Given the description of an element on the screen output the (x, y) to click on. 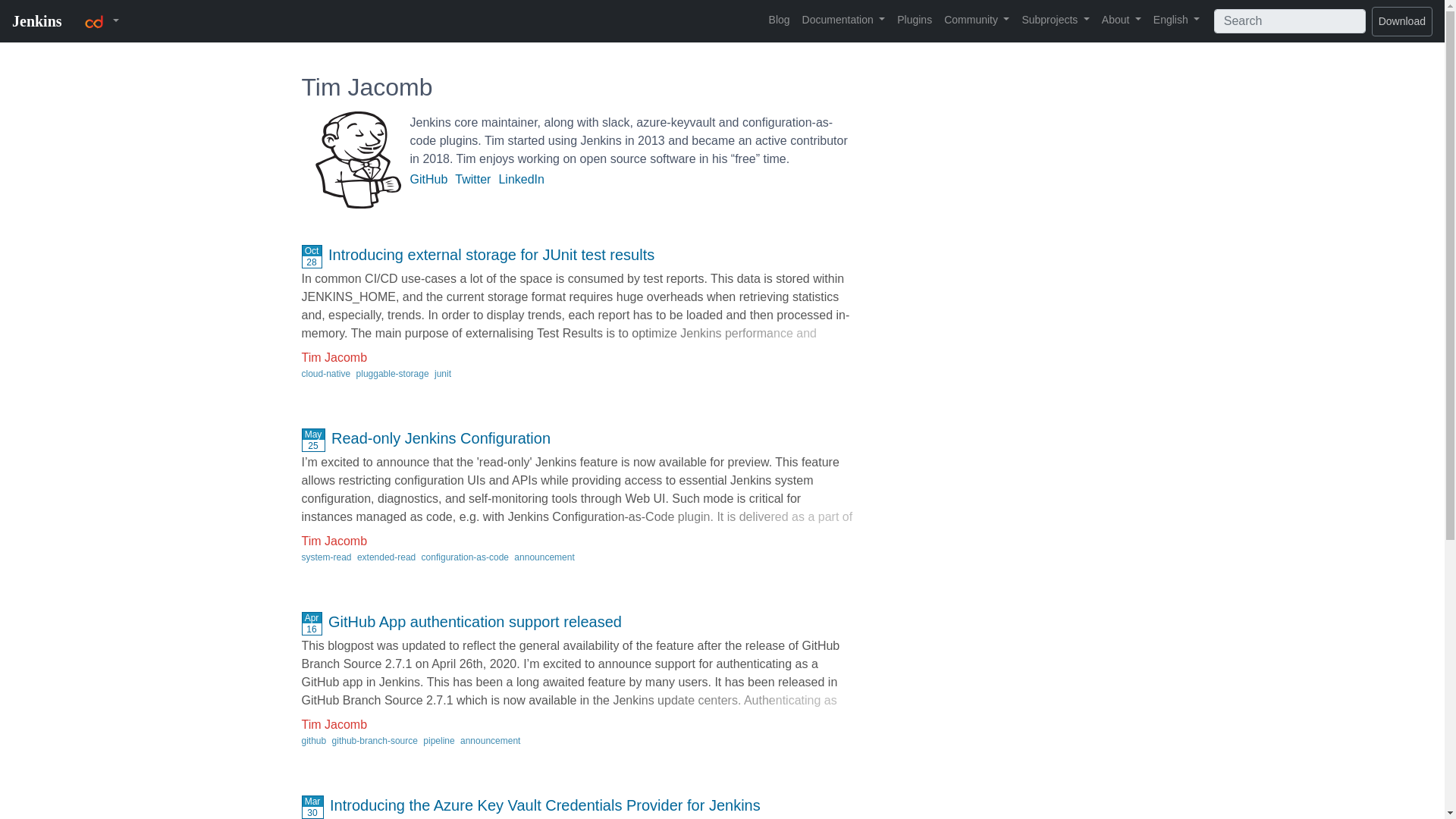
Community (975, 19)
Jenkins (36, 21)
Blog (779, 19)
Plugins (914, 19)
Documentation (843, 19)
